Given the description of an element on the screen output the (x, y) to click on. 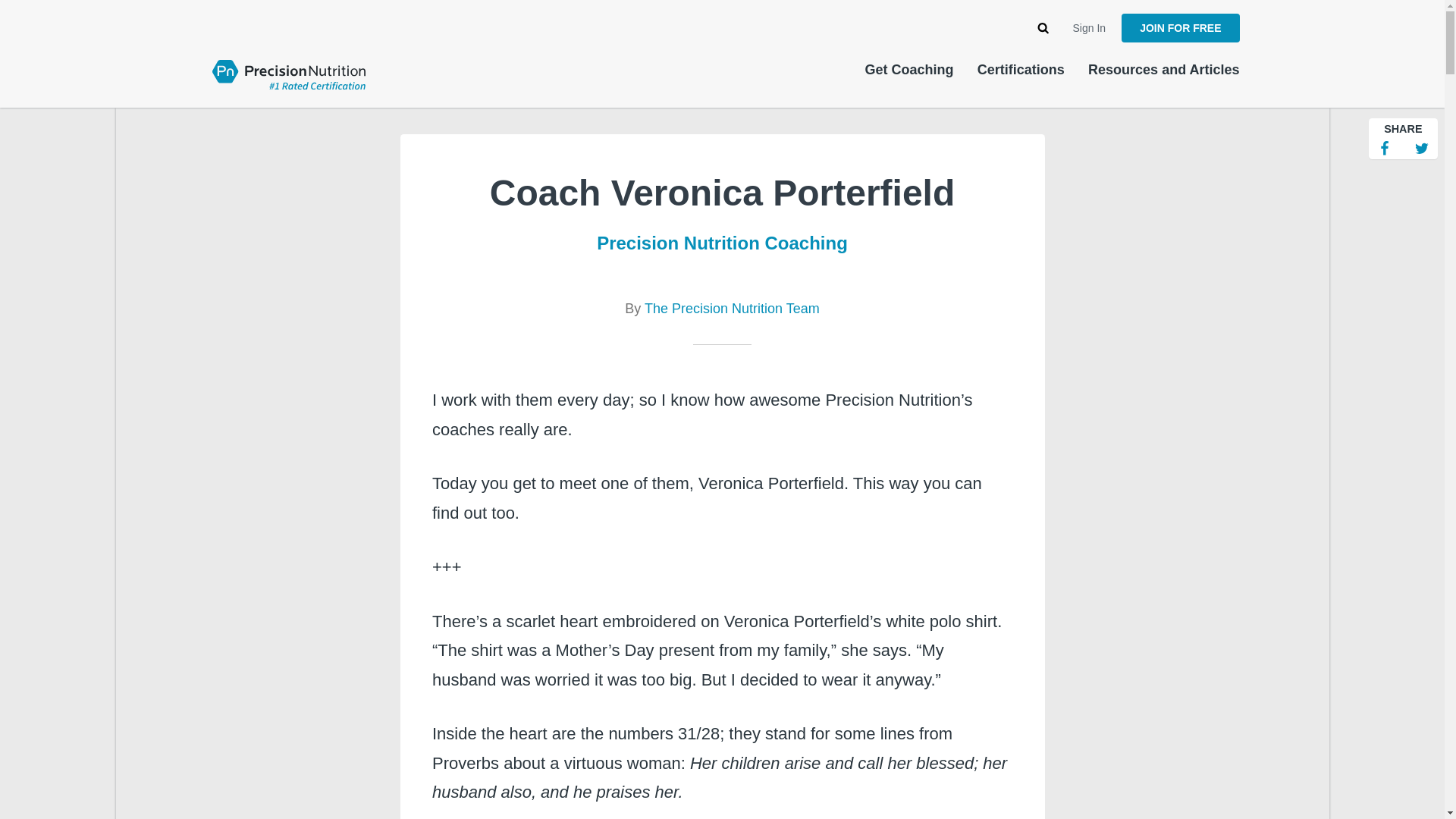
Go to homepage (288, 73)
JOIN FOR FREE (1180, 27)
Certifications (1020, 69)
Sign In (1089, 28)
Resources and Articles (1163, 69)
Get Coaching (908, 69)
